Given the description of an element on the screen output the (x, y) to click on. 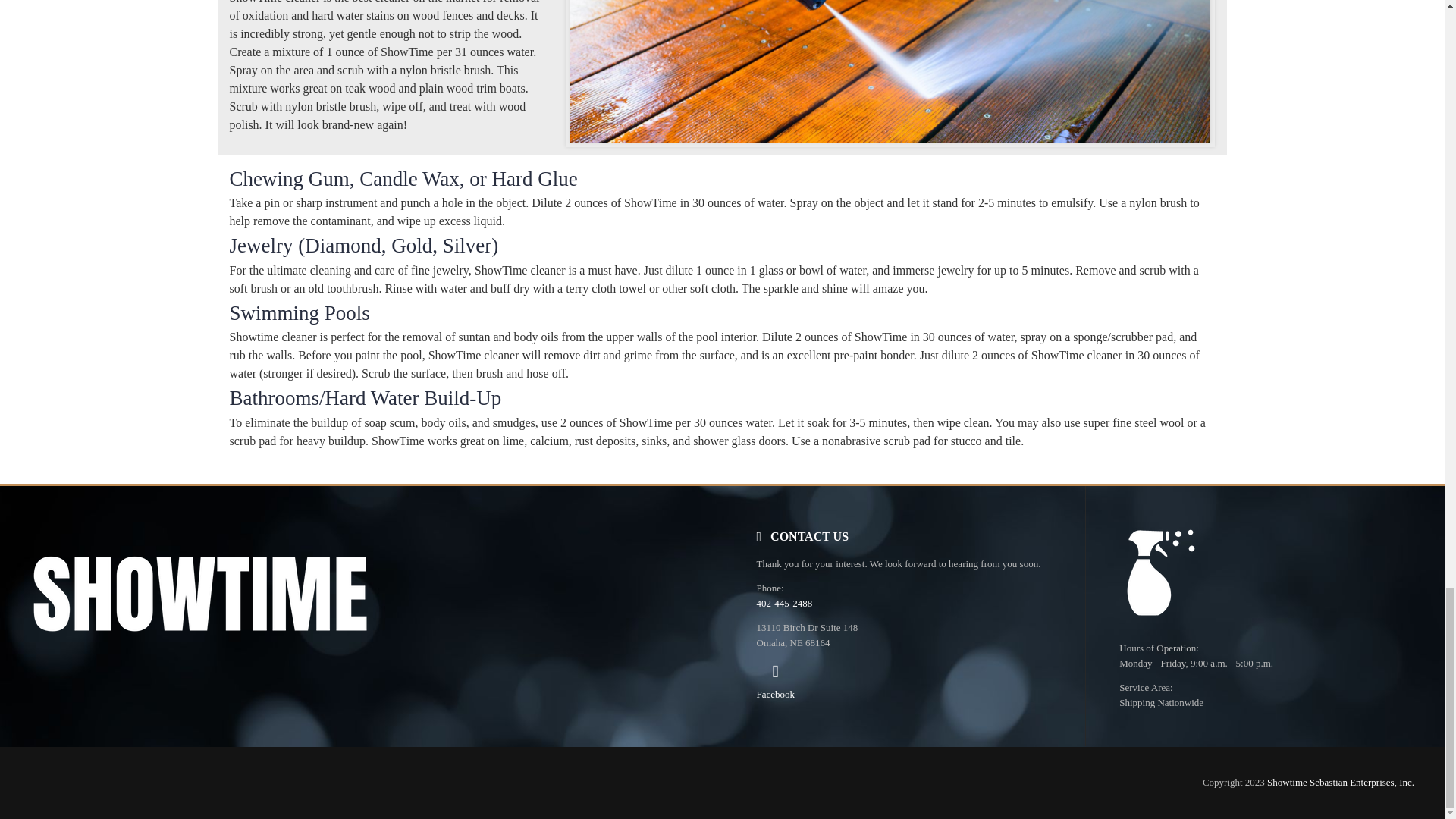
402-445-2488 (784, 603)
cleaning-deck (890, 71)
